Given the description of an element on the screen output the (x, y) to click on. 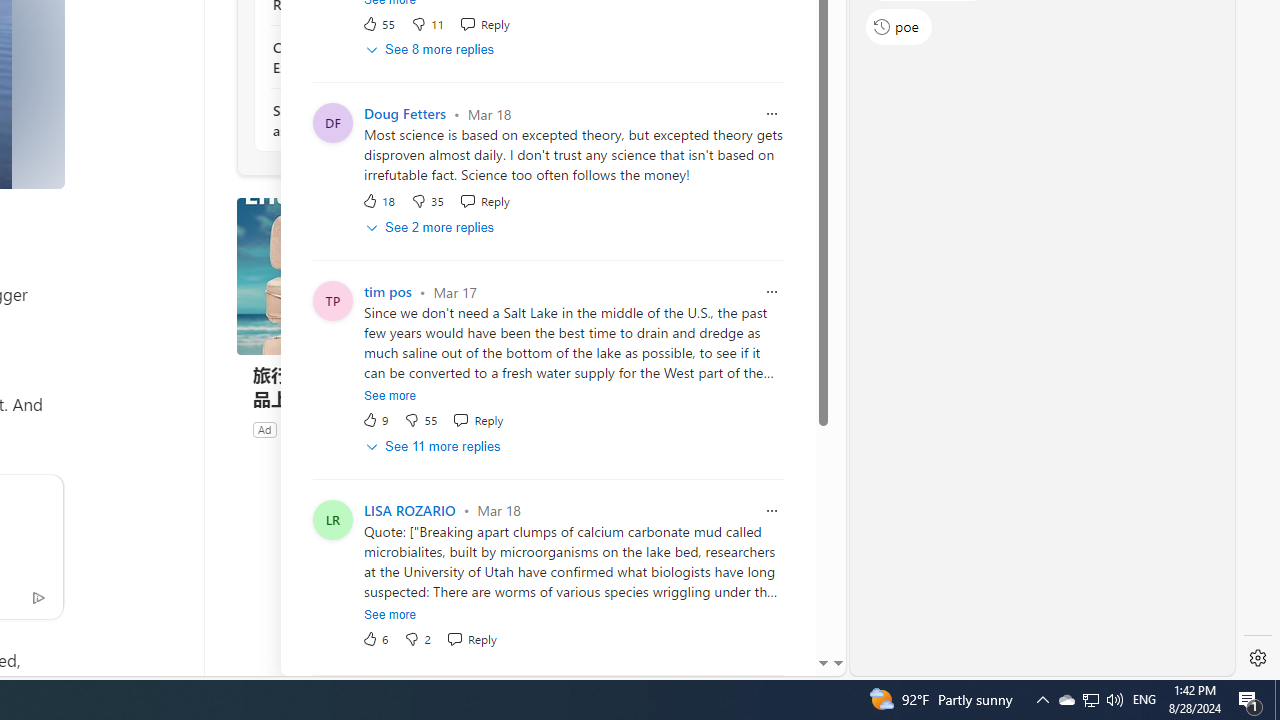
Ad Choice (514, 429)
See 11 more replies (434, 446)
tim pos (387, 292)
See 8 more replies (431, 50)
poe (898, 26)
Reply Reply Comment (471, 637)
Dislike (417, 637)
Doug Fetters (404, 114)
55 Like (378, 23)
See 2 more replies (431, 228)
6 Like (375, 637)
